Given the description of an element on the screen output the (x, y) to click on. 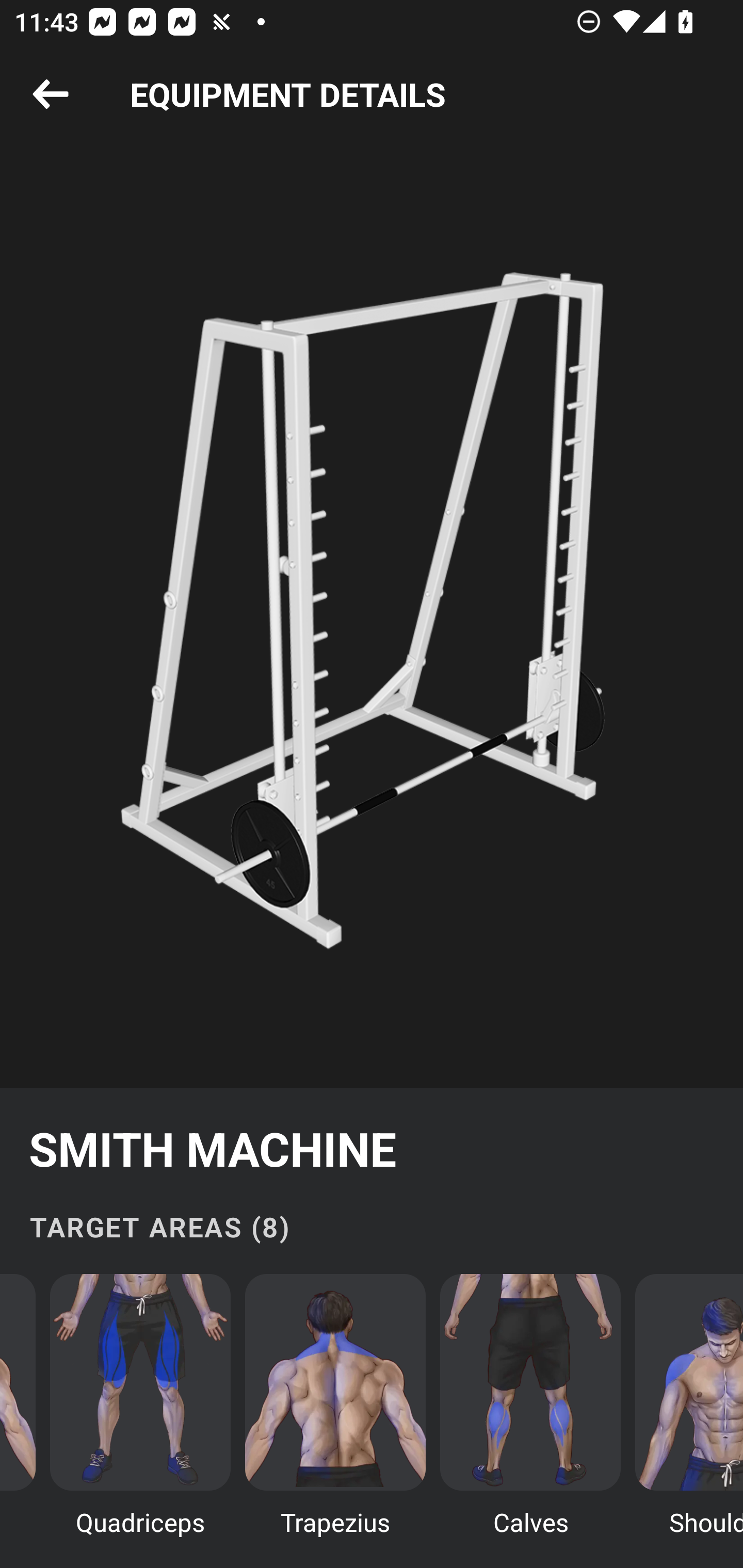
Back Icon (50, 94)
